Given the description of an element on the screen output the (x, y) to click on. 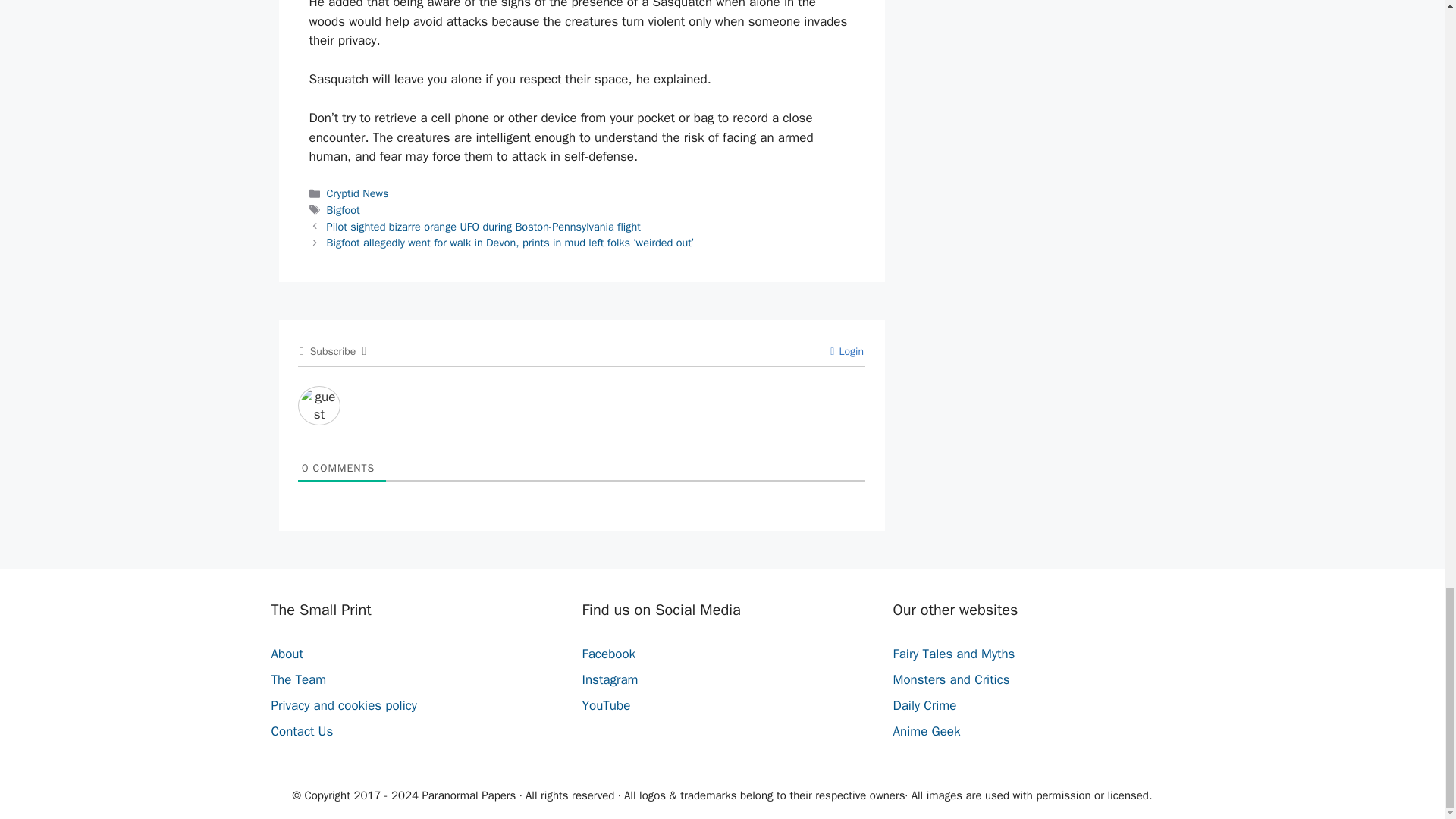
Cryptid News (357, 192)
Bigfoot (342, 210)
Login (846, 350)
